Given the description of an element on the screen output the (x, y) to click on. 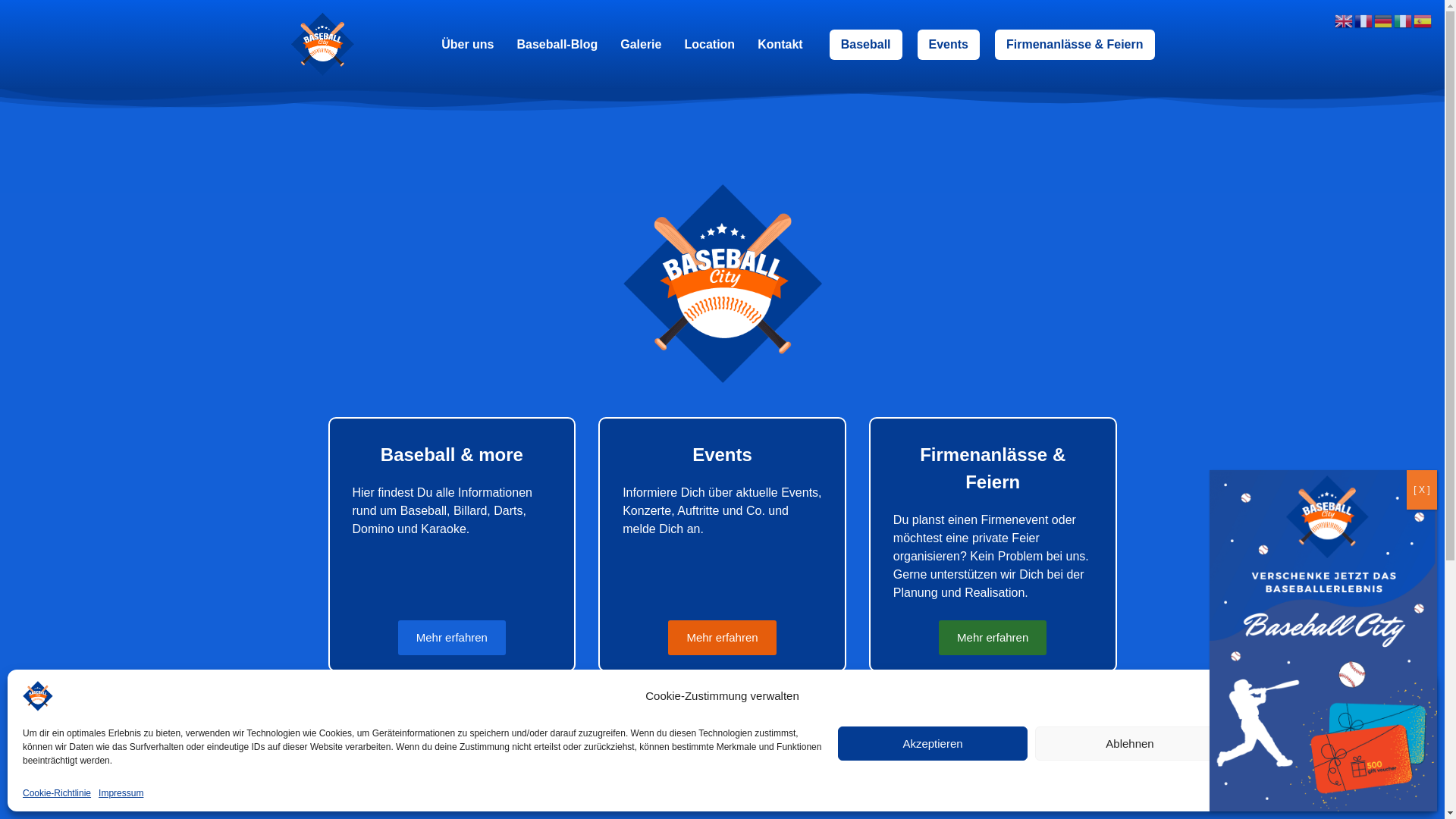
French Element type: hover (1364, 19)
Galerie Element type: text (640, 43)
Mehr erfahren Element type: text (451, 637)
Cookie-Richtlinie Element type: text (56, 793)
Location Element type: text (709, 43)
Spanish Element type: hover (1423, 19)
Akzeptieren Element type: text (932, 743)
Ablehnen Element type: text (1129, 743)
Italian Element type: hover (1403, 19)
Baseball Element type: text (729, 112)
Events Element type: text (948, 43)
Einstellungen ansehen Element type: text (1326, 743)
Impressum Element type: text (120, 793)
[ X ] Element type: text (1421, 489)
German Element type: hover (1383, 19)
Mehr erfahren Element type: text (992, 637)
English Element type: hover (1344, 19)
Mehr erfahren Element type: text (721, 637)
Baseball-Blog Element type: text (557, 43)
Baseball Element type: text (865, 43)
Kontakt Element type: text (780, 43)
